Given the description of an element on the screen output the (x, y) to click on. 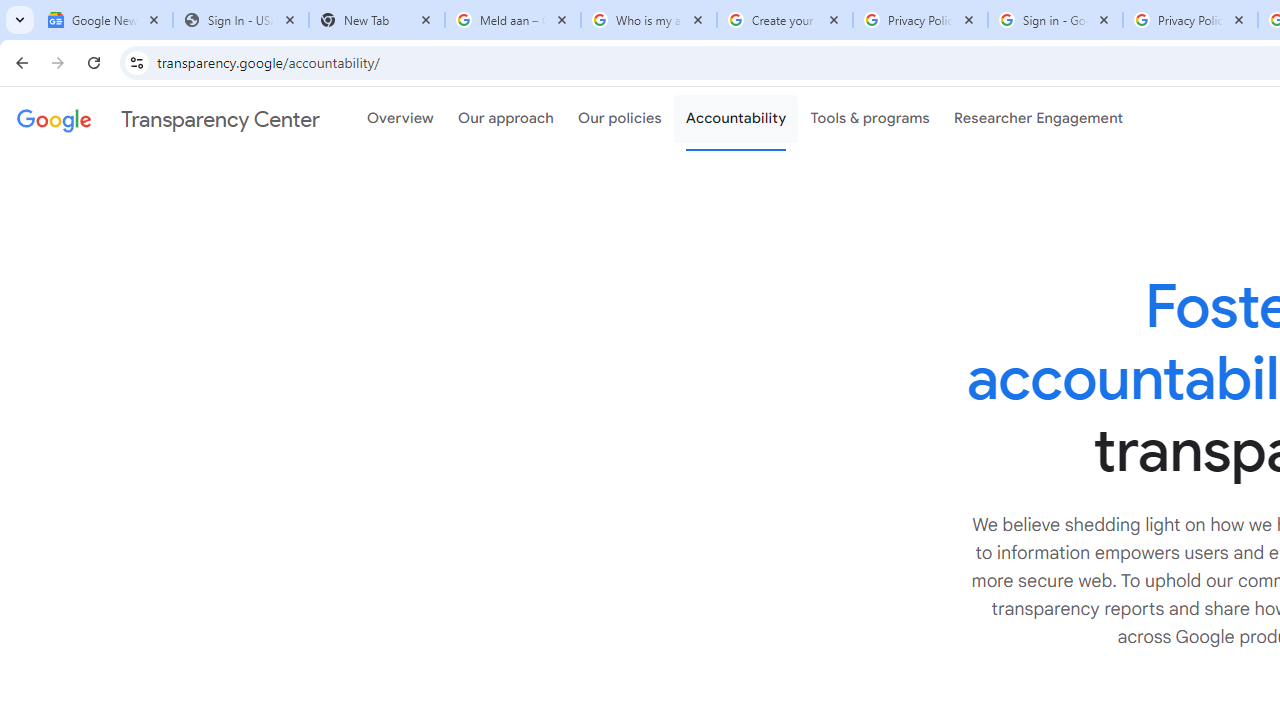
Google News (104, 20)
Accountability (735, 119)
Create your Google Account (784, 20)
Our policies (619, 119)
Our approach (506, 119)
Researcher Engagement (1038, 119)
Who is my administrator? - Google Account Help (648, 20)
Sign In - USA TODAY (240, 20)
Transparency Center (167, 119)
